Given the description of an element on the screen output the (x, y) to click on. 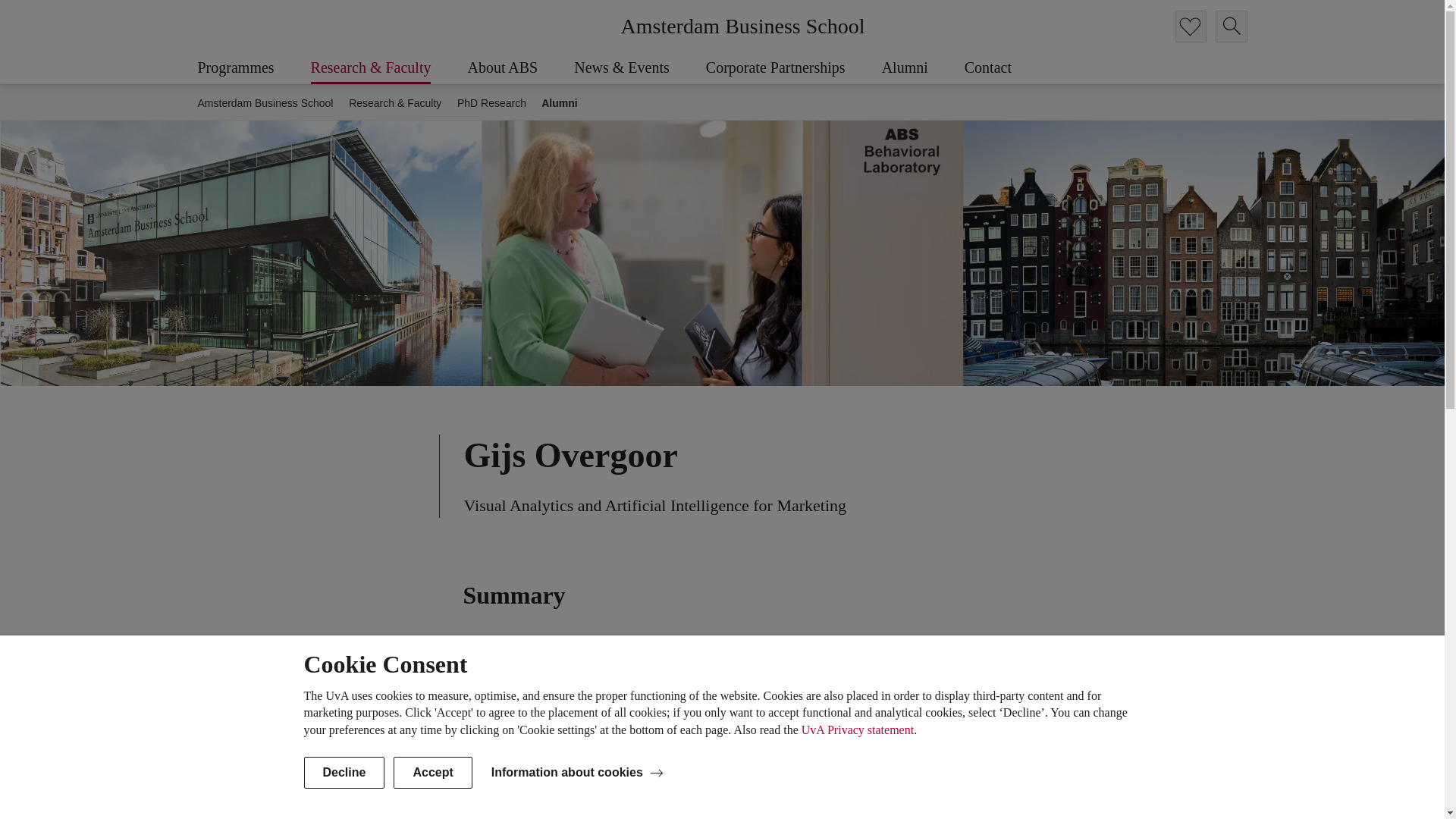
Programmes (253, 68)
About ABS (520, 68)
Amsterdam Business School (742, 26)
